Given the description of an element on the screen output the (x, y) to click on. 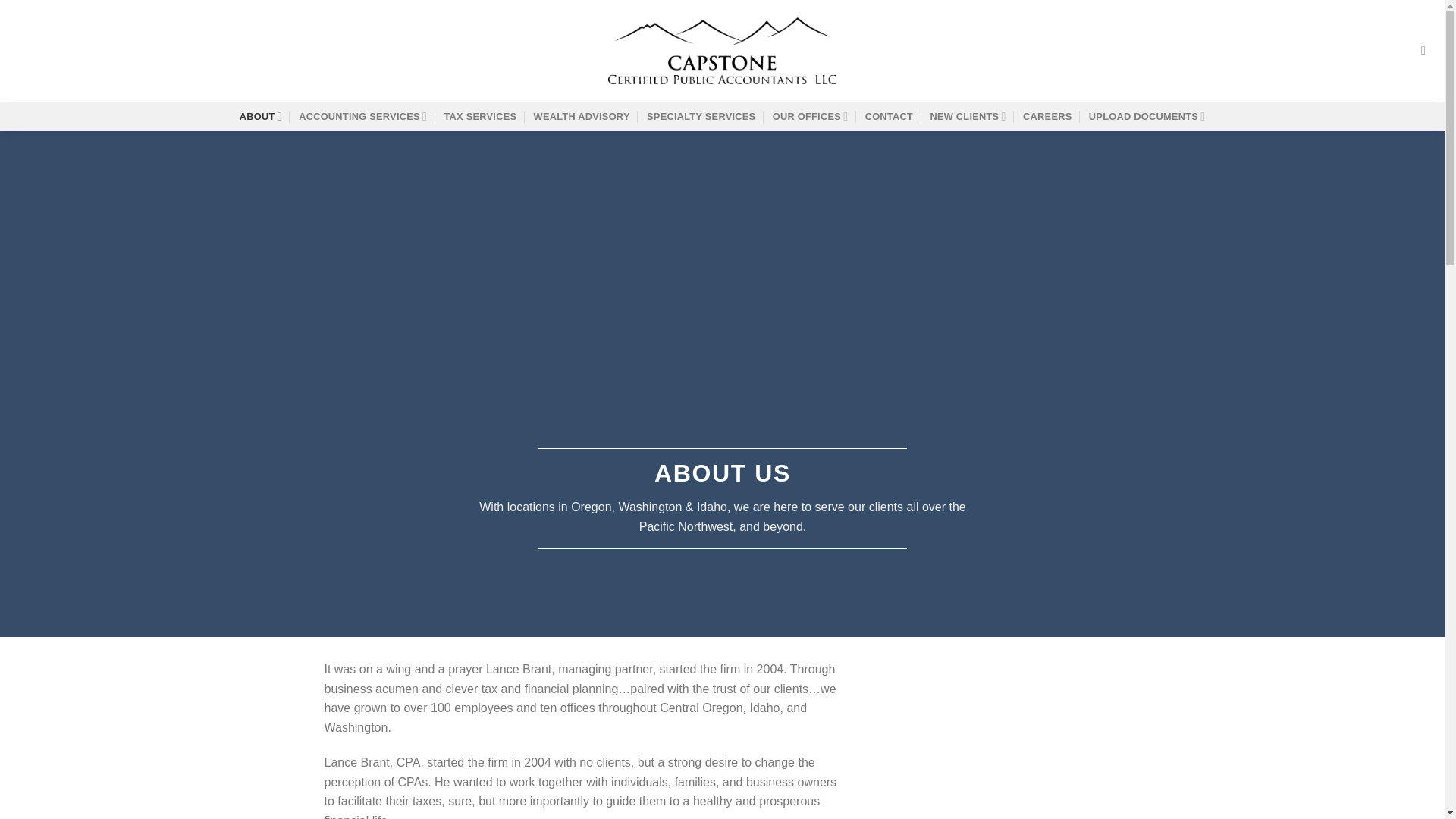
SPECIALTY SERVICES (700, 116)
CONTACT (888, 116)
WEALTH ADVISORY (582, 116)
ACCOUNTING SERVICES (362, 116)
Capstone CPAs - Keeping Your Money Safe and Working for You (721, 50)
TAX SERVICES (480, 116)
ABOUT (261, 116)
NEW CLIENTS (968, 116)
OUR OFFICES (810, 116)
